Given the description of an element on the screen output the (x, y) to click on. 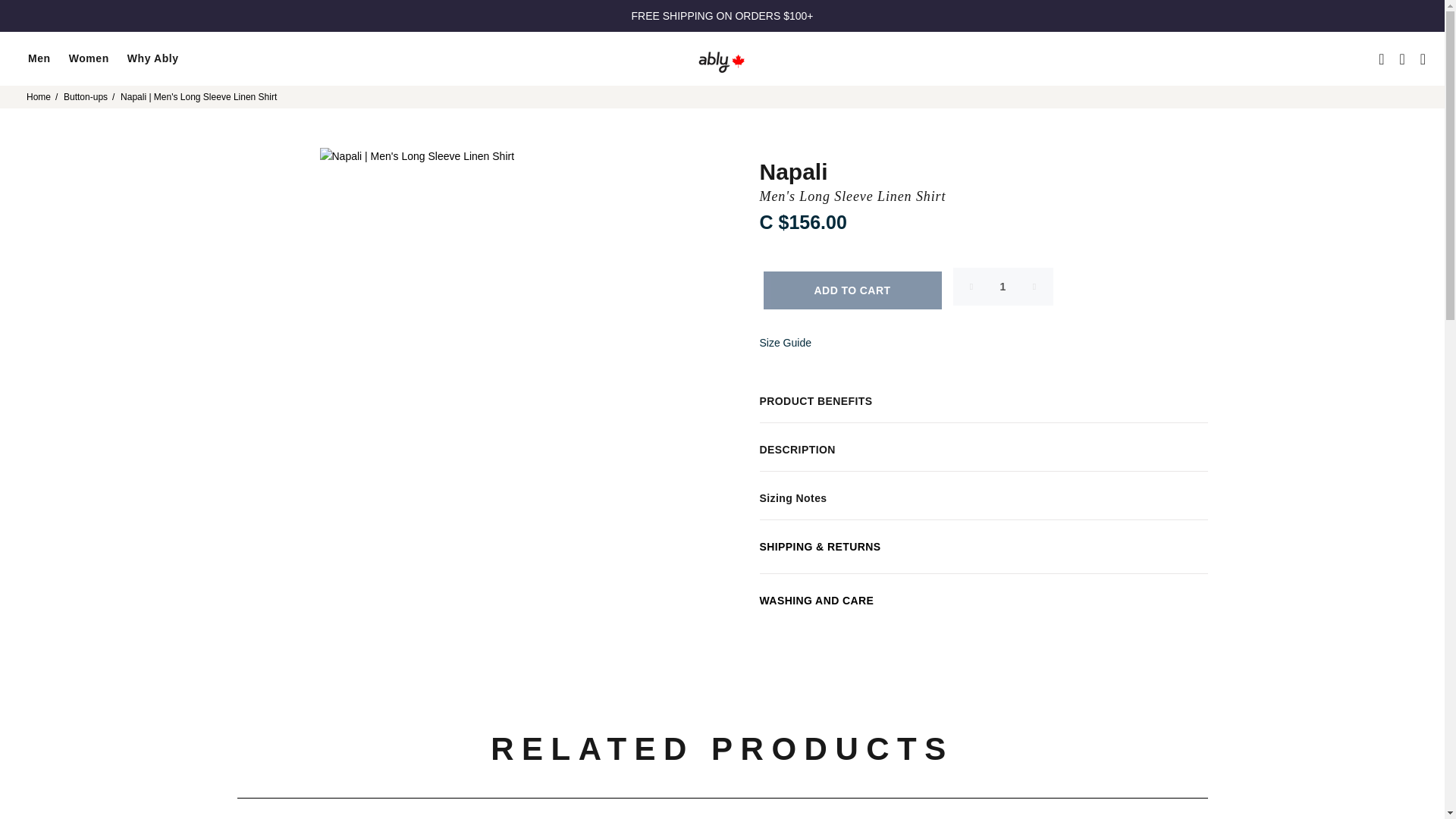
Go to review (984, 243)
1 (1002, 286)
